Given the description of an element on the screen output the (x, y) to click on. 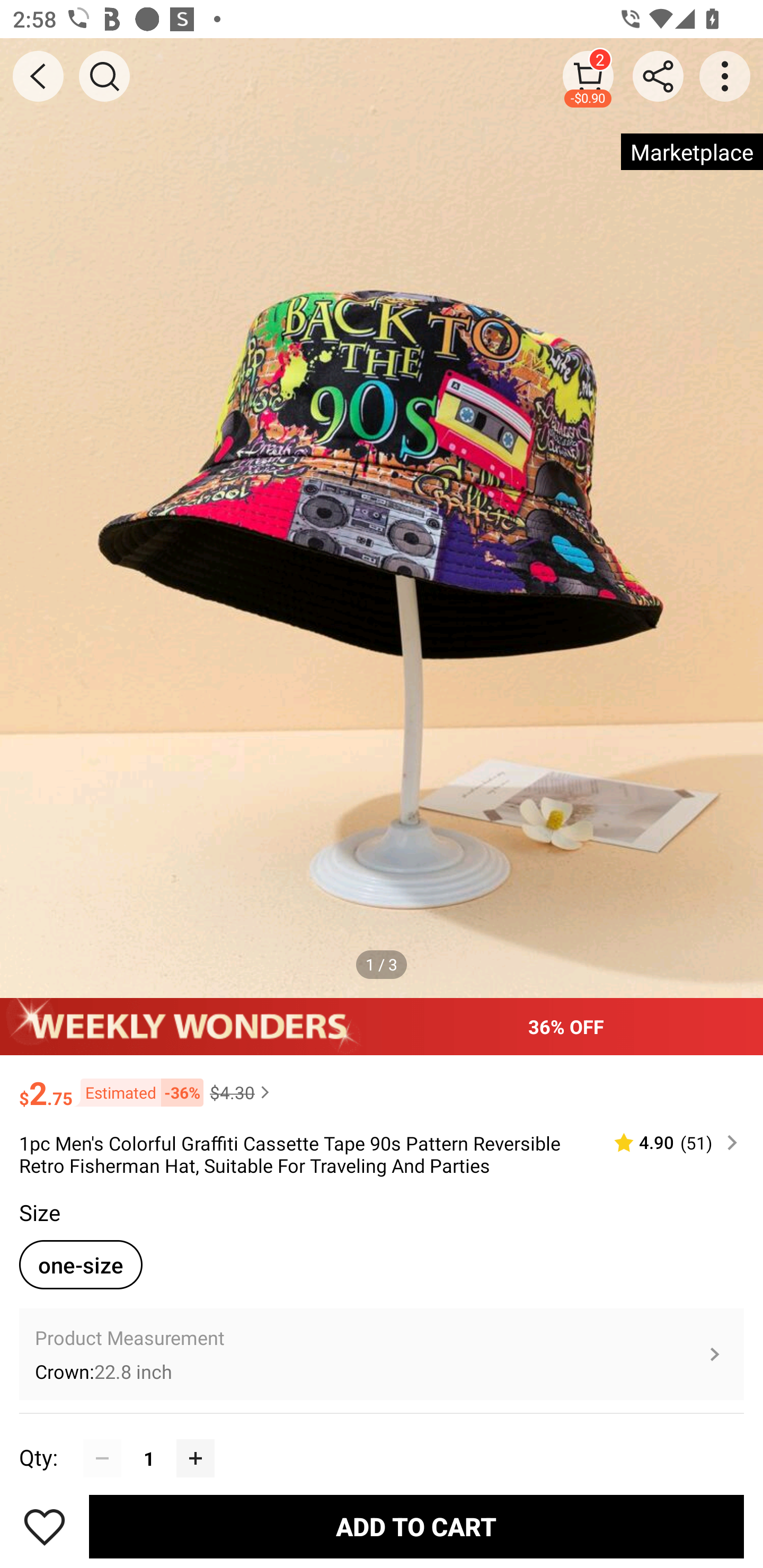
BACK (38, 75)
2 -$0.90 (588, 75)
1 / 3 (381, 964)
36% OFF (381, 1026)
$2.75 Estimated -36% $4.30 (381, 1084)
Estimated -36% (137, 1092)
$4.30 (241, 1091)
4.90 (51) (667, 1142)
Size (39, 1212)
one-size one-sizeselected option (80, 1264)
Product Measurement Crown:22.8 inch (381, 1353)
Qty: 1 (381, 1438)
ADD TO CART (416, 1526)
Save (44, 1526)
